Given the description of an element on the screen output the (x, y) to click on. 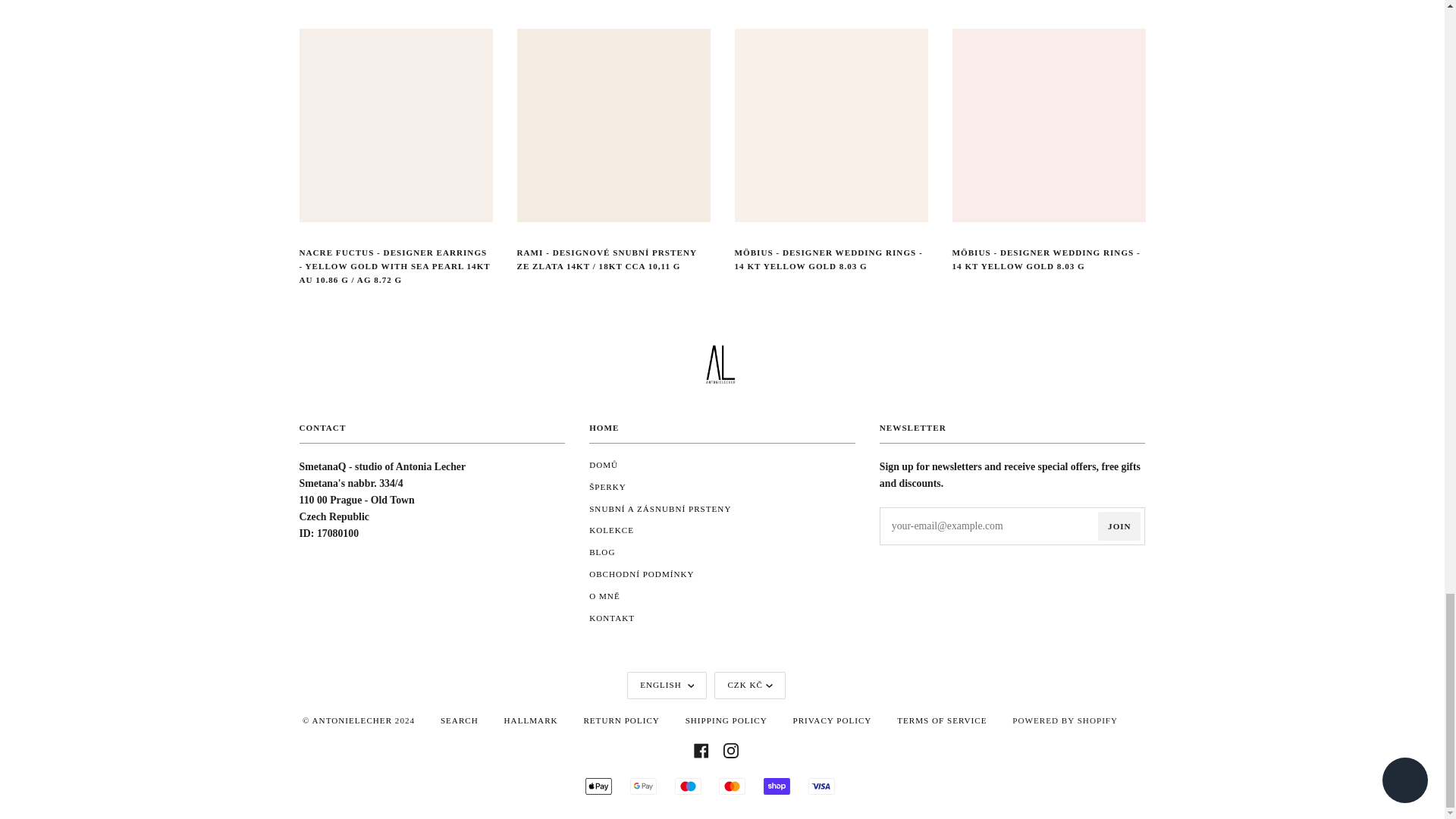
Facebook (701, 749)
APPLE PAY (598, 786)
MASTERCARD (732, 786)
VISA (821, 786)
Instagram (730, 749)
GOOGLE PAY (643, 786)
SHOP PAY (776, 786)
MAESTRO (688, 786)
